Given the description of an element on the screen output the (x, y) to click on. 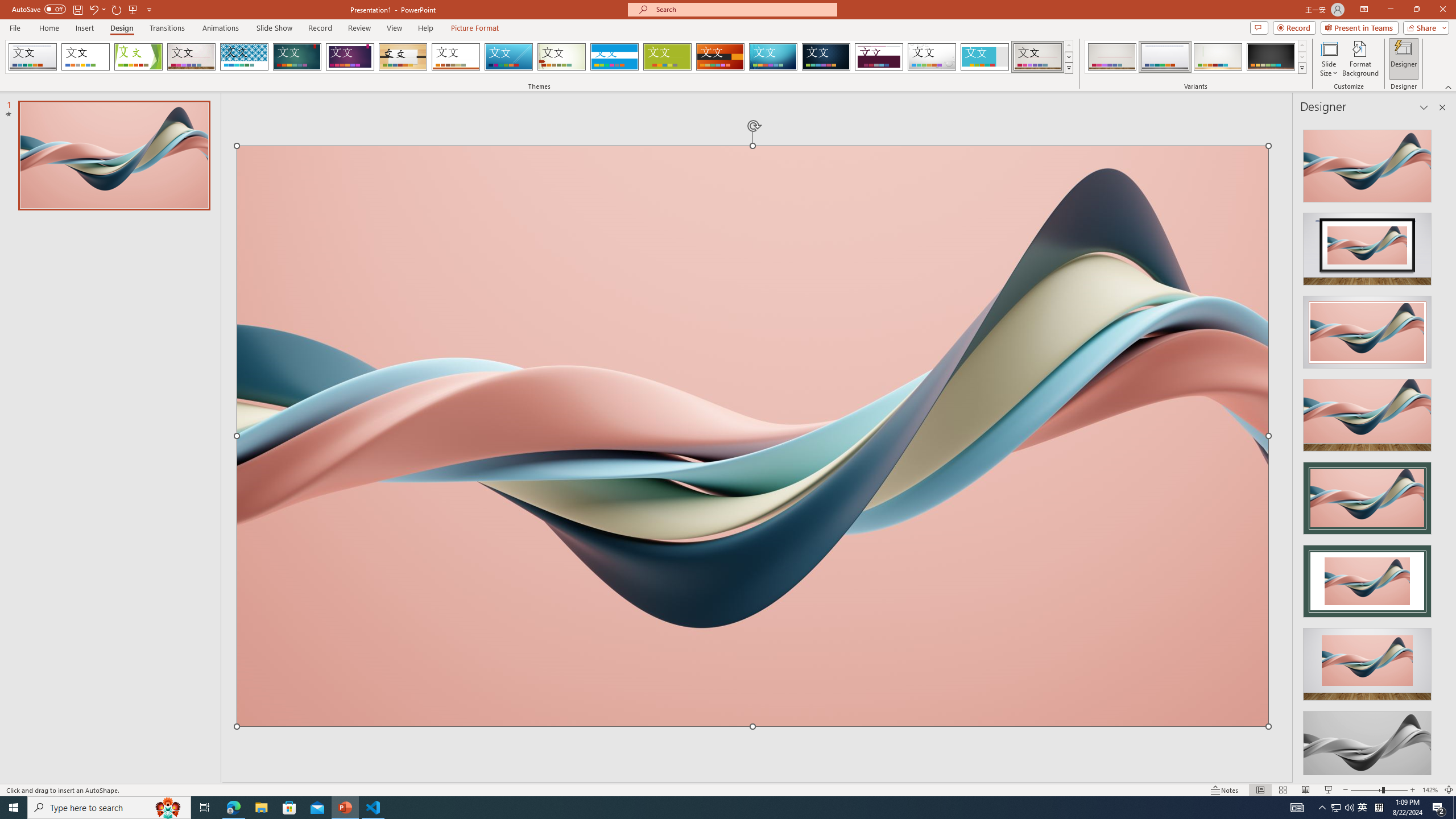
Variants (1301, 67)
Frame (984, 56)
Gallery Variant 2 (1164, 56)
Basis (667, 56)
